Given the description of an element on the screen output the (x, y) to click on. 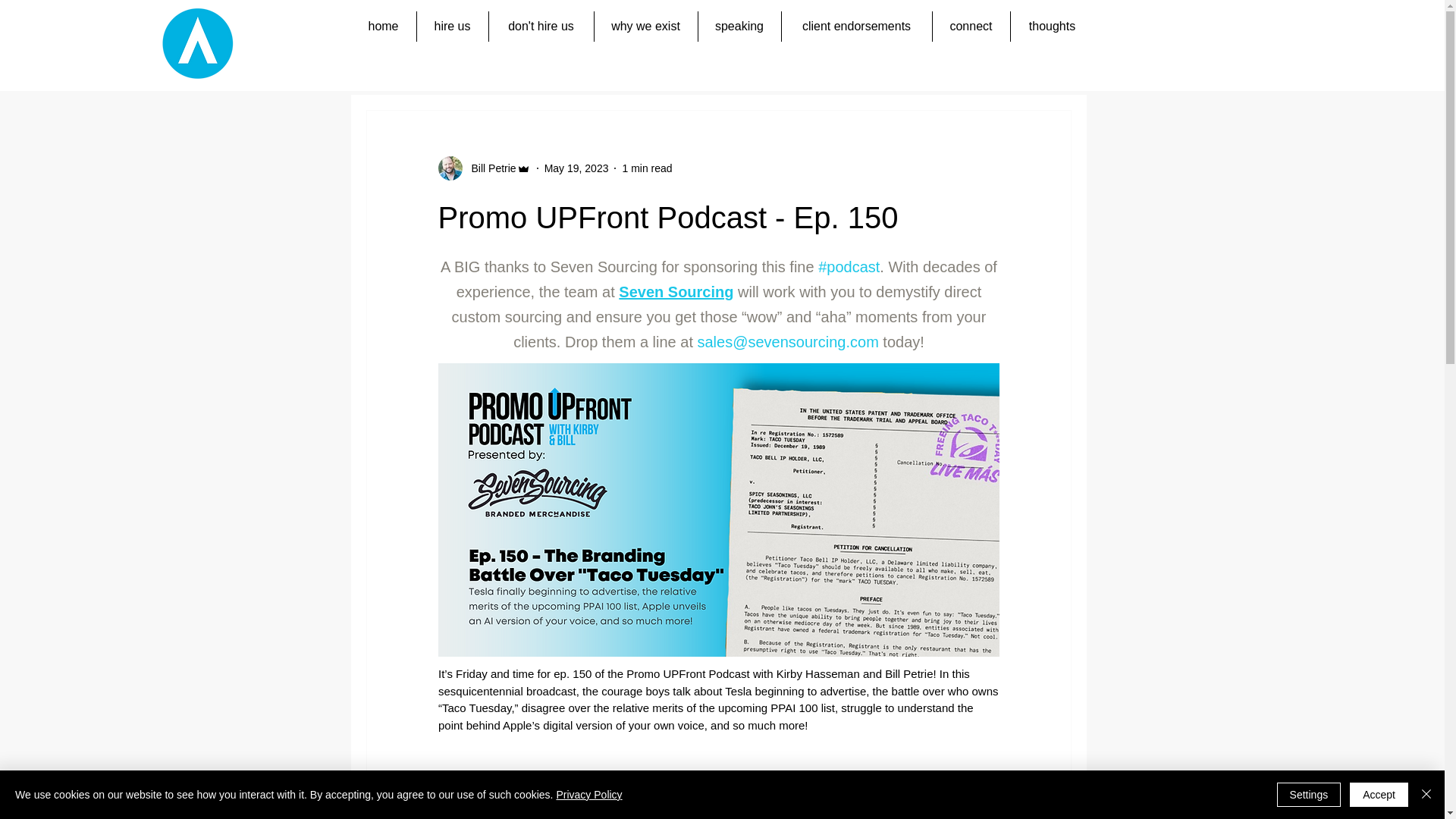
thoughts (1051, 26)
Seven Sourcing (675, 291)
client endorsements (855, 26)
May 19, 2023 (576, 168)
1 min read (646, 168)
hire us (451, 26)
home (382, 26)
speaking (738, 26)
connect (971, 26)
why we exist (645, 26)
Bill Petrie (489, 168)
don't hire us (539, 26)
